Given the description of an element on the screen output the (x, y) to click on. 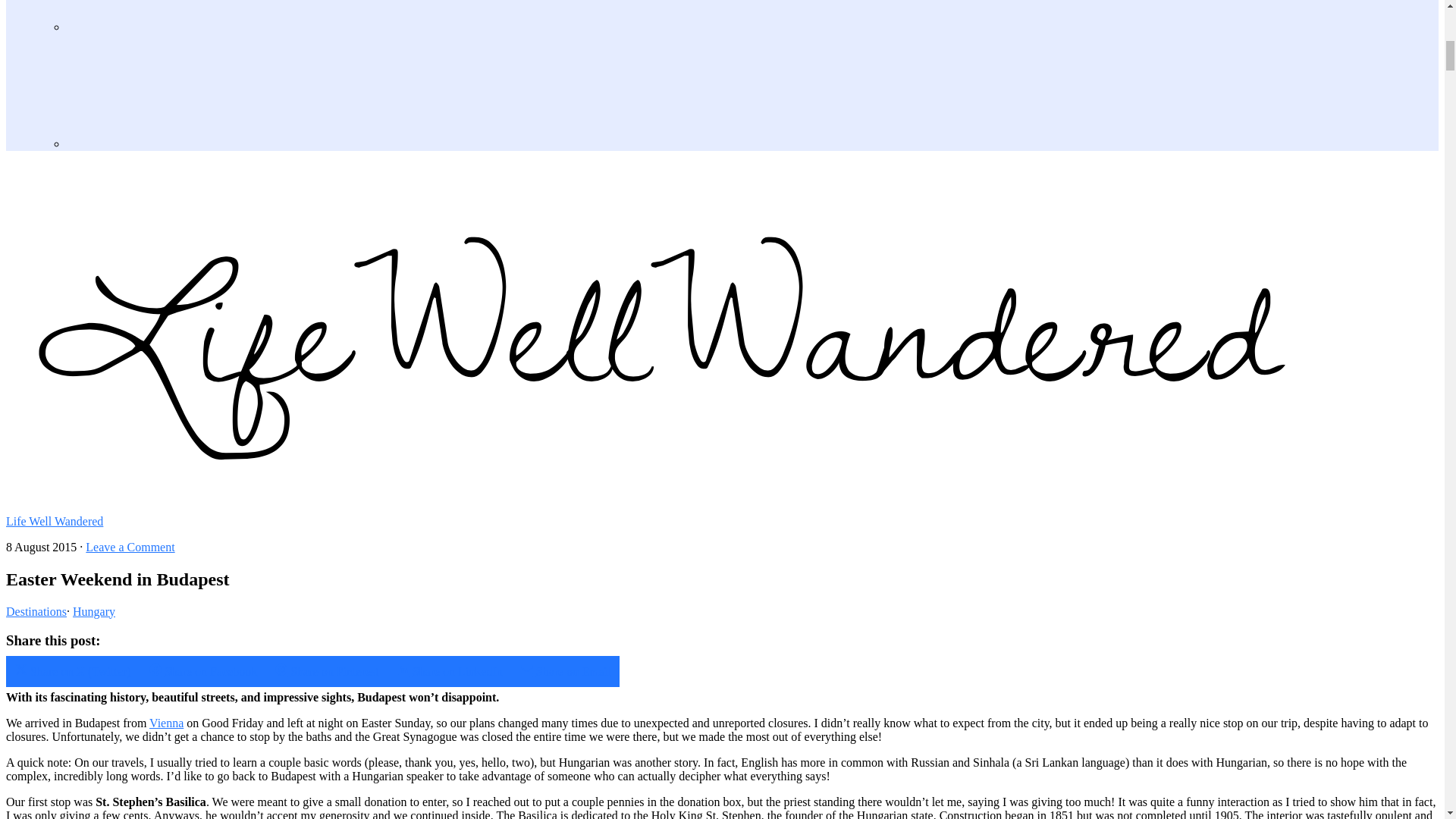
Share on Pinterest (326, 671)
Share on Email (566, 671)
Pinterest (185, 15)
Twitter (185, 144)
Life Well Wandered (54, 521)
Destinations (35, 611)
Share on Facebook (202, 671)
Pinterest (185, 27)
Leave a Comment (129, 546)
Vienna (166, 722)
Hungary (93, 611)
Share on LinkedIn (450, 671)
Twitter (185, 91)
